Given the description of an element on the screen output the (x, y) to click on. 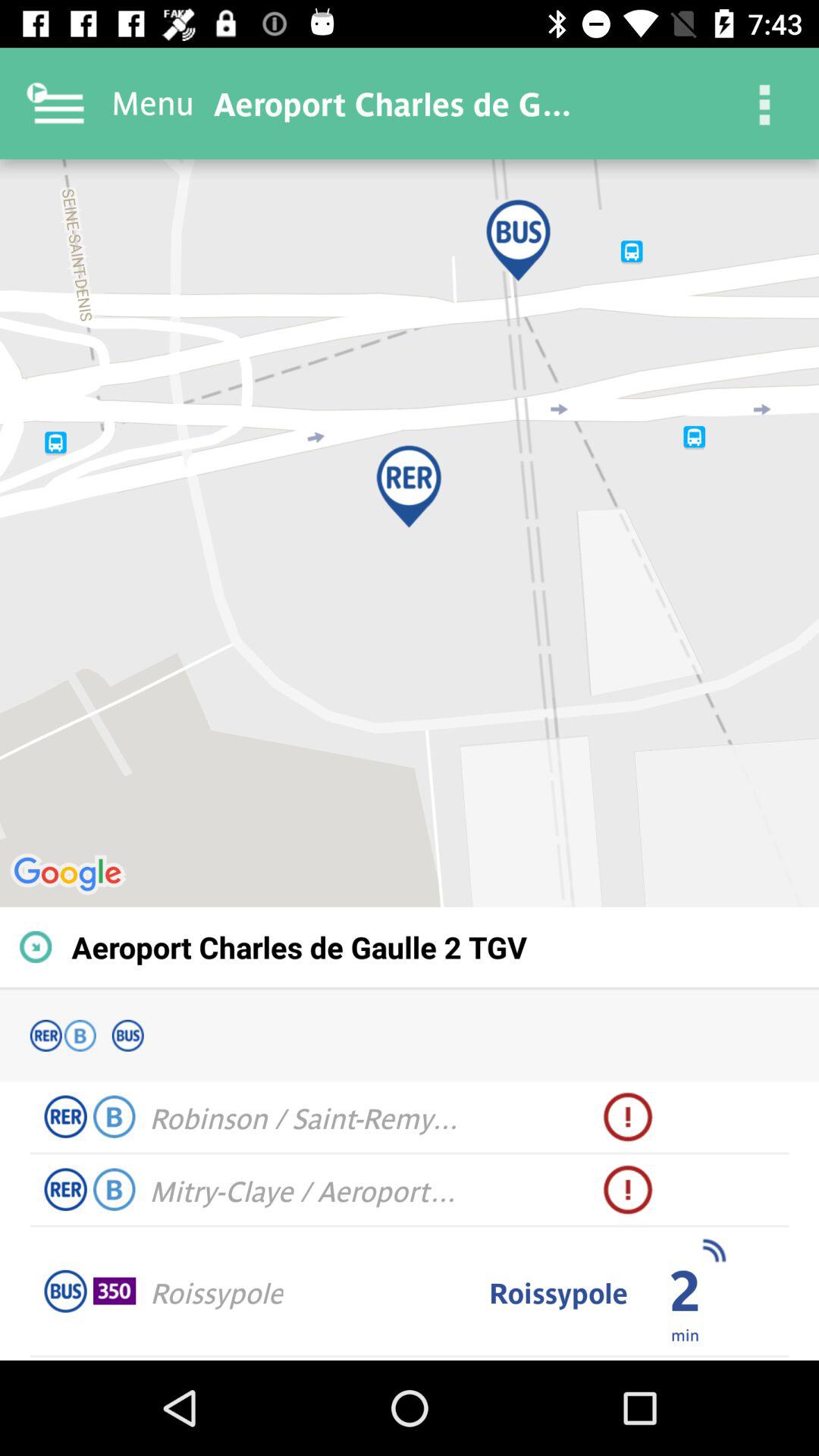
turn on icon next to the 2 (713, 1250)
